Given the description of an element on the screen output the (x, y) to click on. 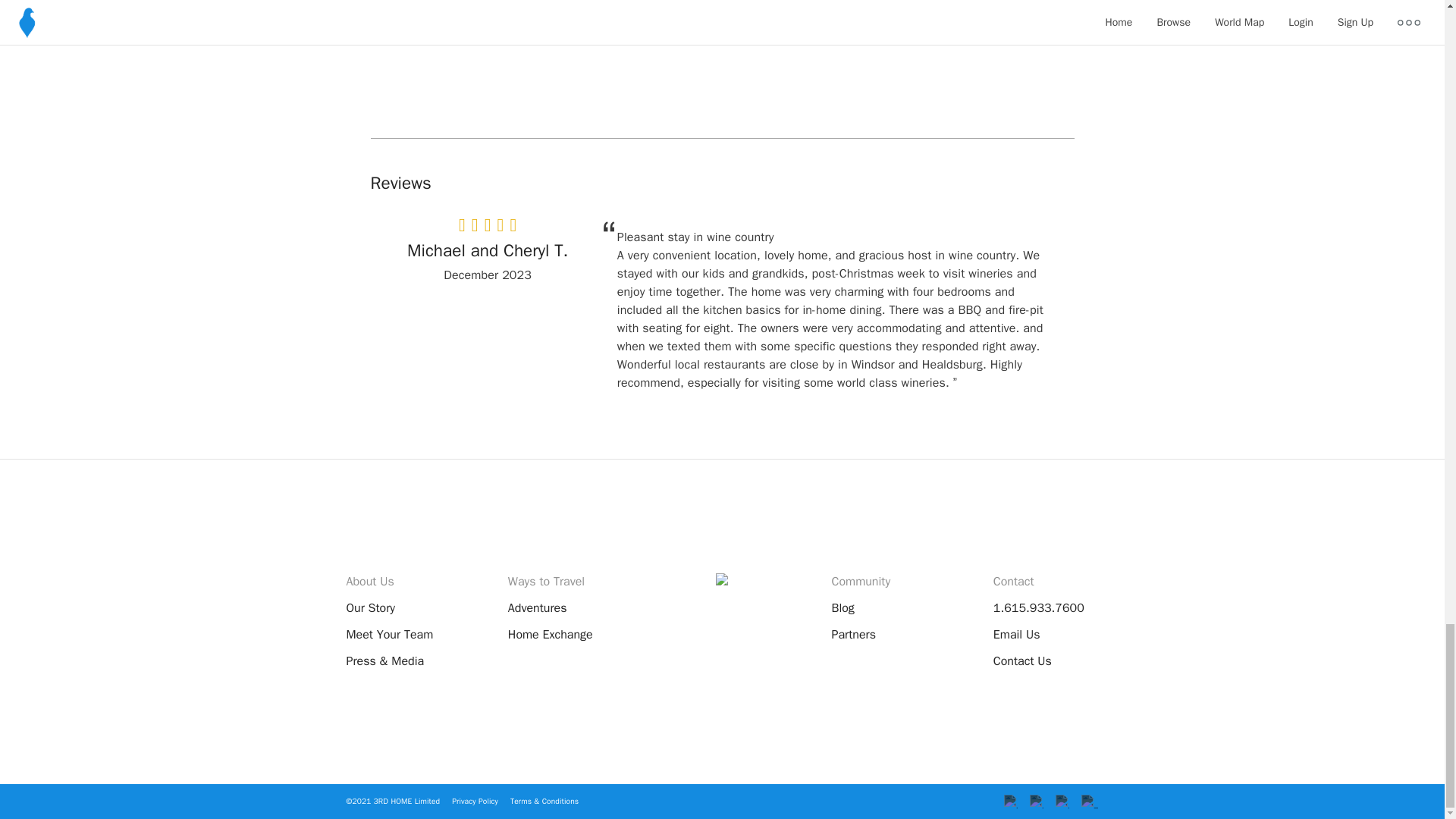
ThirdHome in the Press (384, 661)
Stories and luxury travel inspiration (842, 607)
About ThirdHome (370, 607)
ThirdHome Team Members (389, 634)
